Given the description of an element on the screen output the (x, y) to click on. 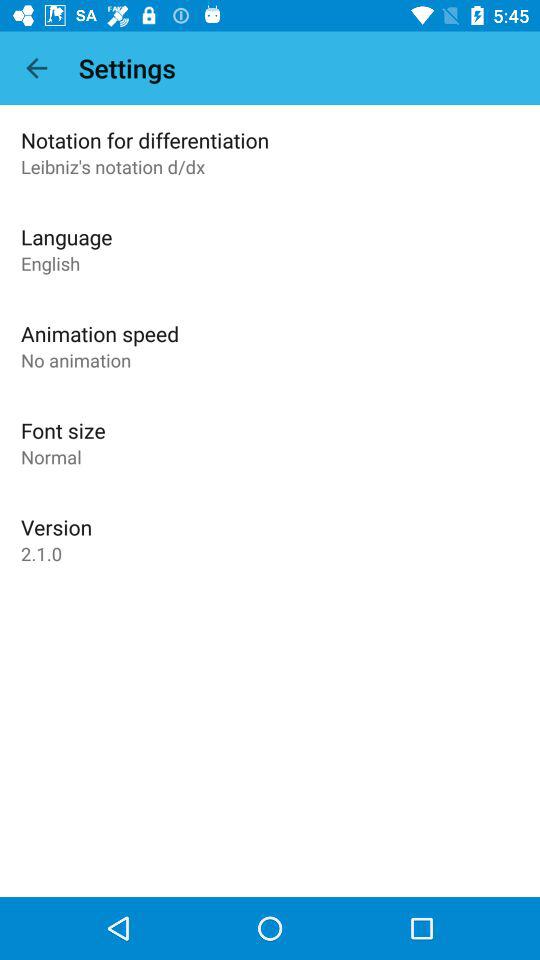
choose icon next to the settings (36, 68)
